Given the description of an element on the screen output the (x, y) to click on. 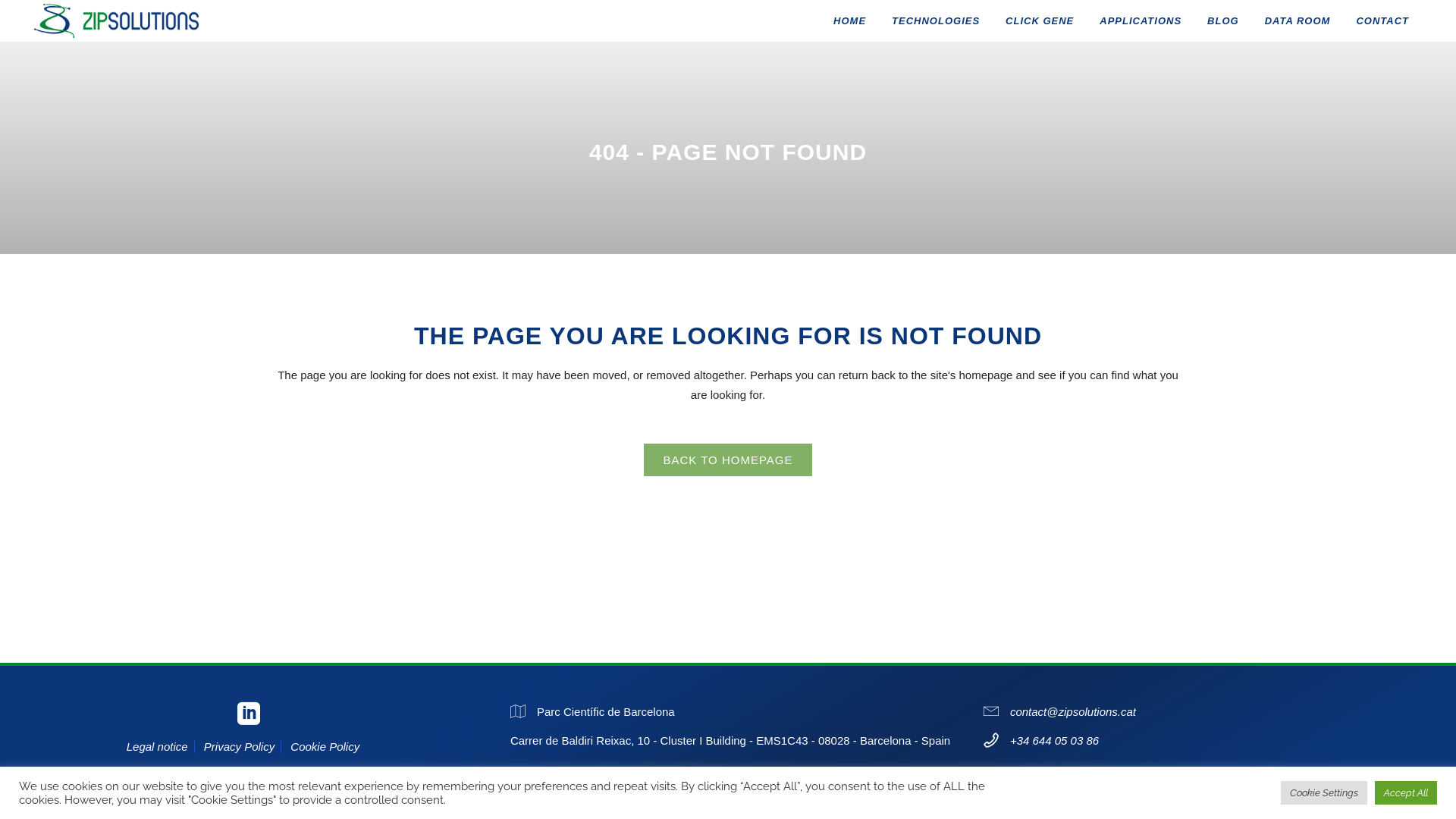
BACK TO HOMEPAGE Element type: text (727, 459)
TECHNOLOGIES Element type: text (935, 20)
CONTACT Element type: text (1382, 20)
CLICK GENE Element type: text (1039, 20)
Cookie Policy Element type: text (324, 746)
DATA ROOM Element type: text (1297, 20)
Accept All Element type: text (1405, 792)
+34 644 05 03 86 Element type: text (1054, 740)
Cookie Settings Element type: text (1323, 792)
Legal notice Element type: text (157, 746)
contact@zipsolutions.cat Element type: text (1072, 711)
Privacy Policy Element type: text (238, 746)
HOME Element type: text (849, 20)
APPLICATIONS Element type: text (1140, 20)
BLOG Element type: text (1223, 20)
